Given the description of an element on the screen output the (x, y) to click on. 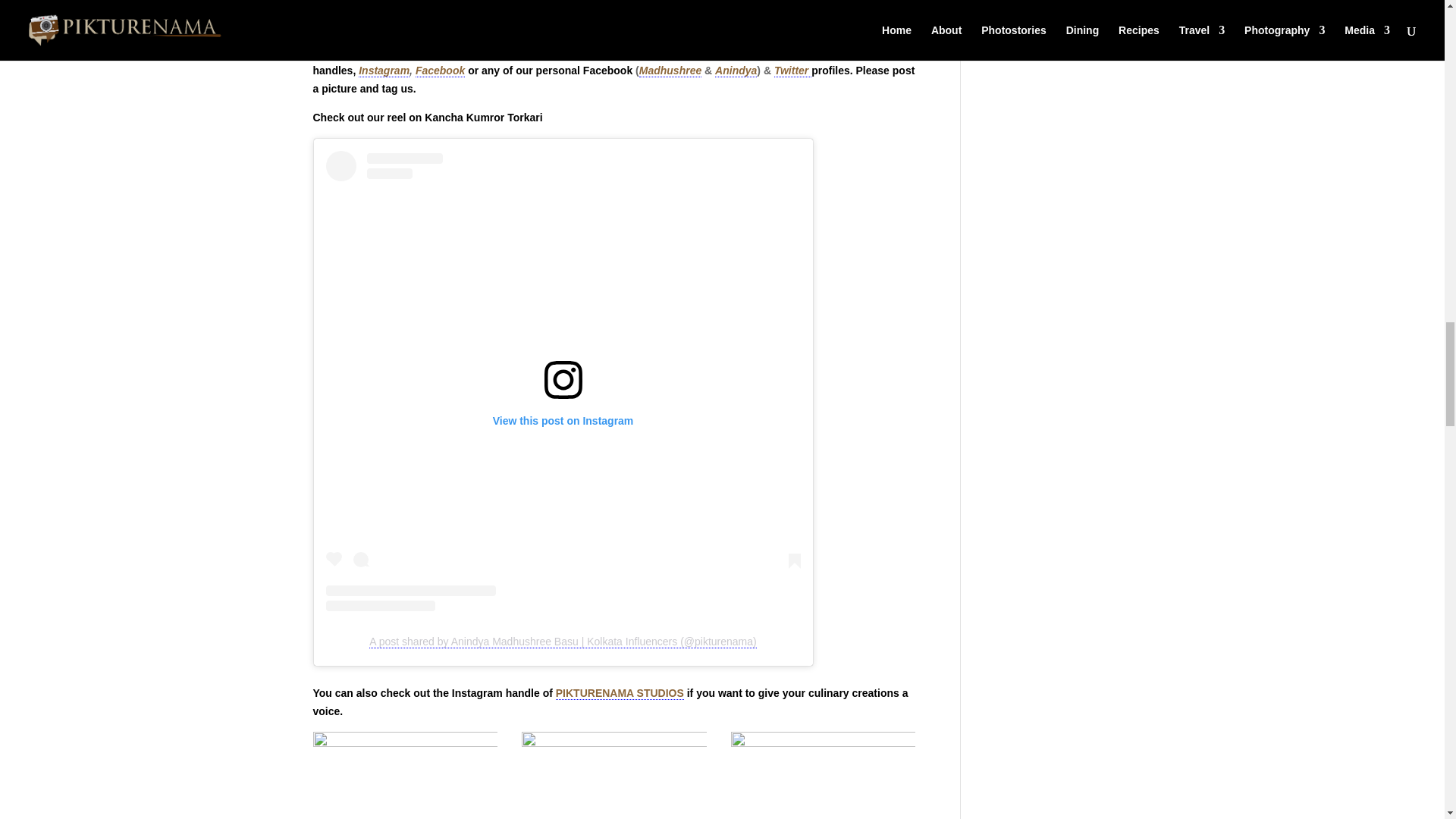
Advertisement (614, 675)
